Given the description of an element on the screen output the (x, y) to click on. 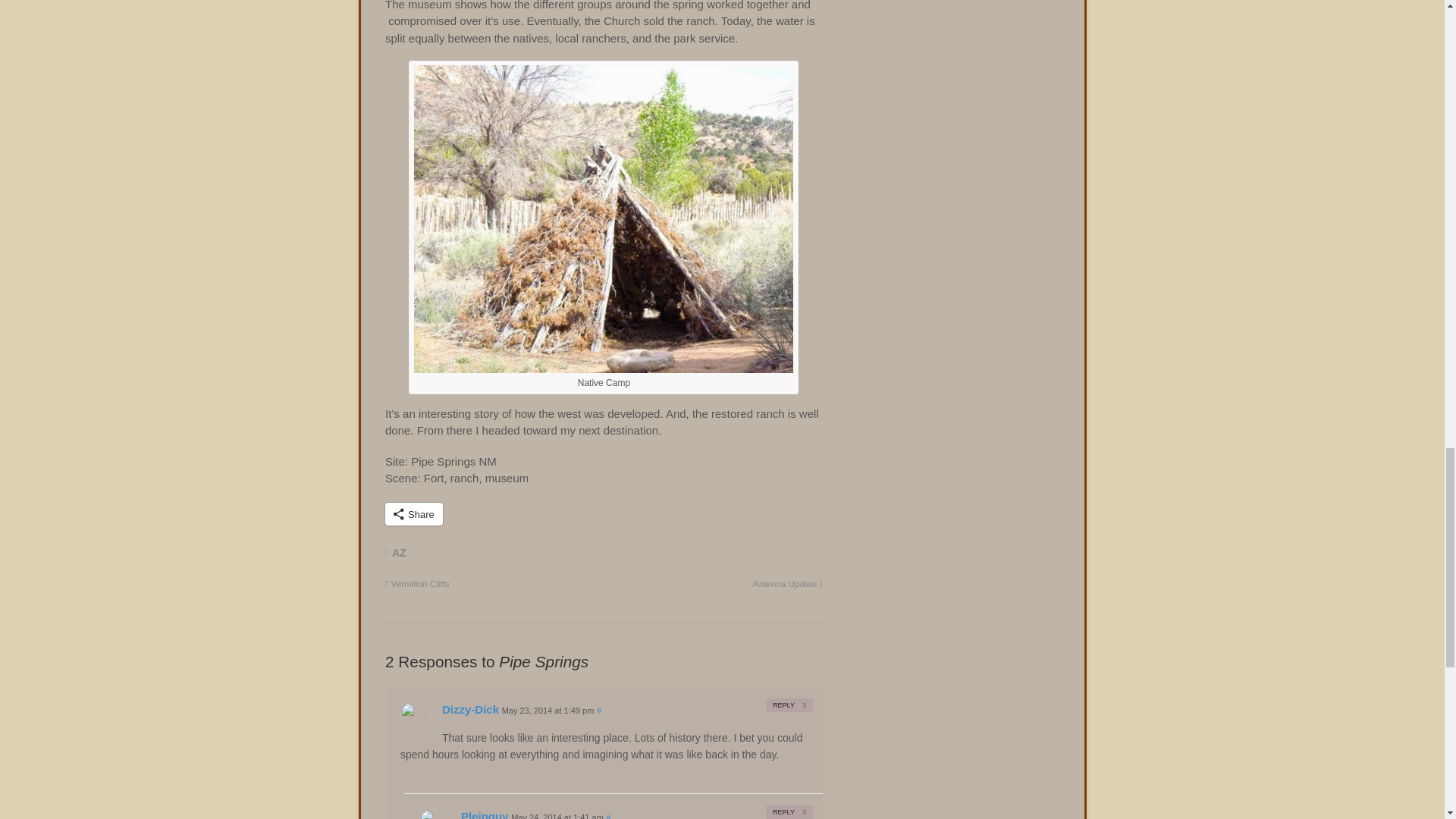
Native Camp (603, 367)
